Given the description of an element on the screen output the (x, y) to click on. 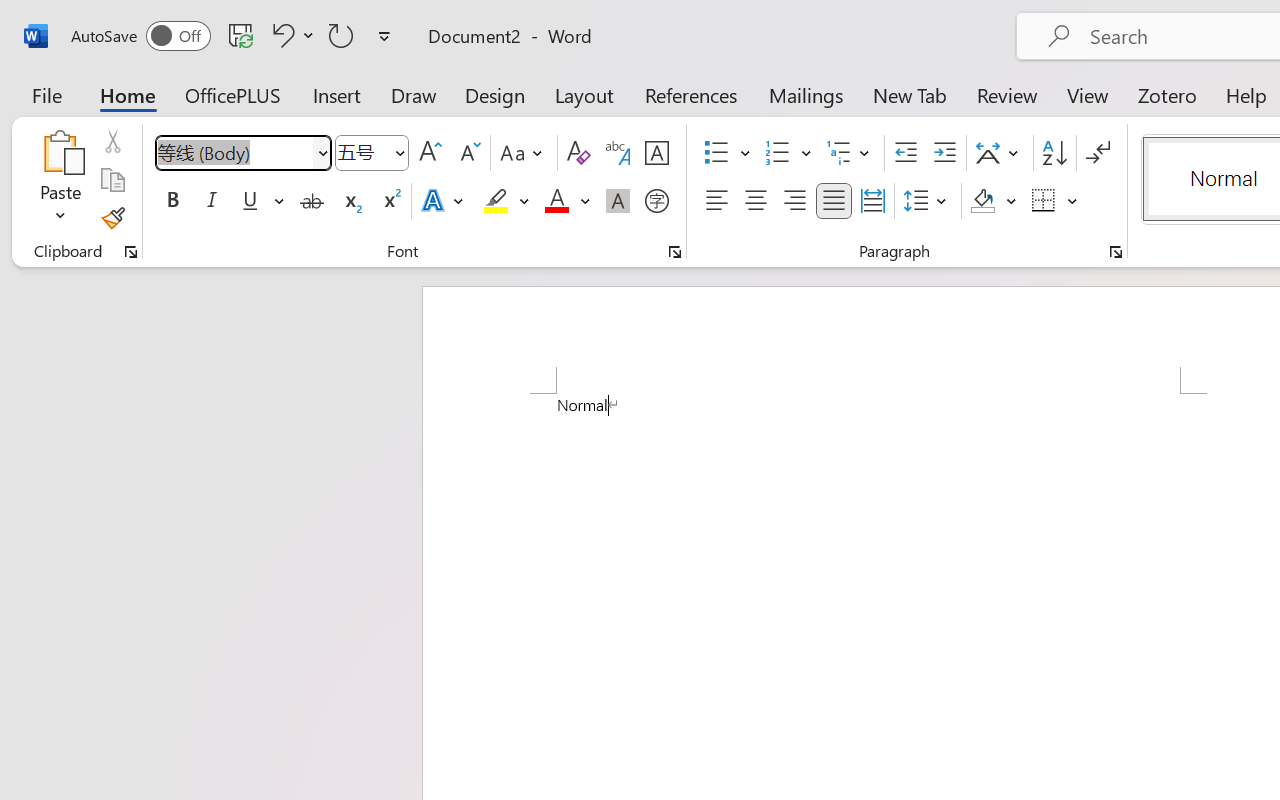
Quick Access Toolbar (233, 36)
Font (242, 153)
